Given the description of an element on the screen output the (x, y) to click on. 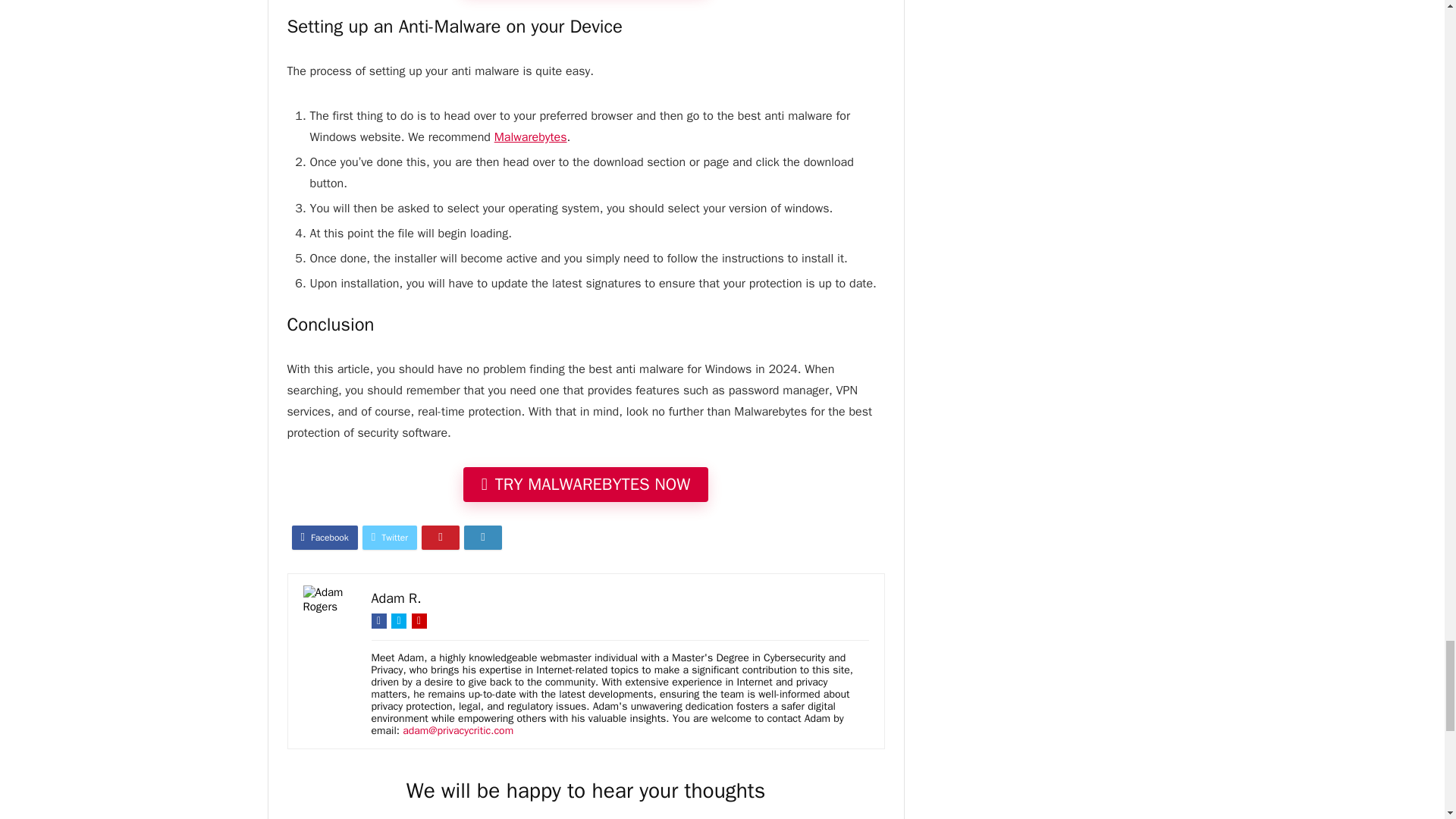
Posts by Adam R. (396, 597)
